Given the description of an element on the screen output the (x, y) to click on. 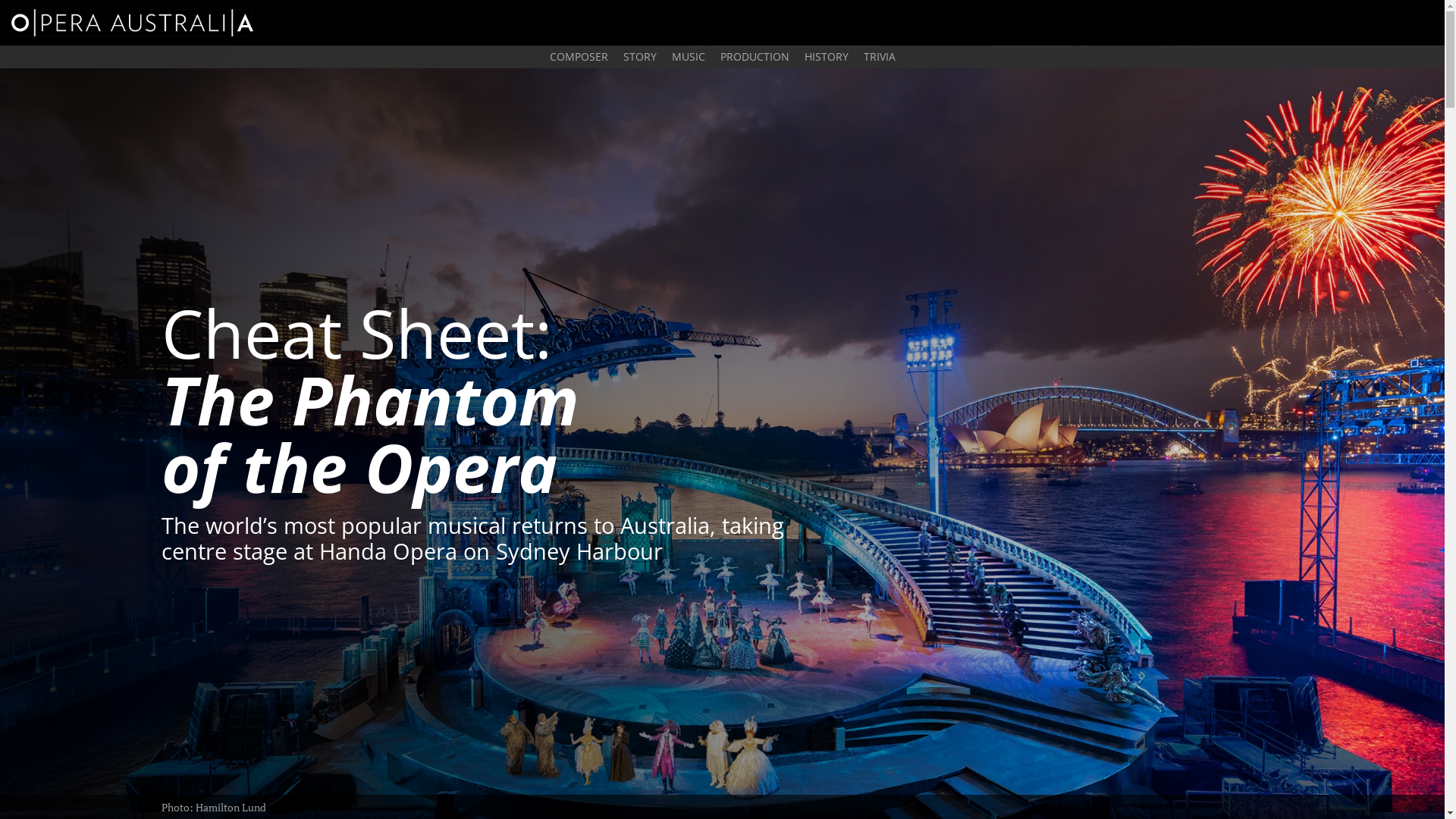
STORY Element type: text (639, 56)
MUSIC Element type: text (688, 56)
TRIVIA Element type: text (878, 56)
PRODUCTION Element type: text (754, 56)
COMPOSER Element type: text (578, 56)
HISTORY Element type: text (825, 56)
